Given the description of an element on the screen output the (x, y) to click on. 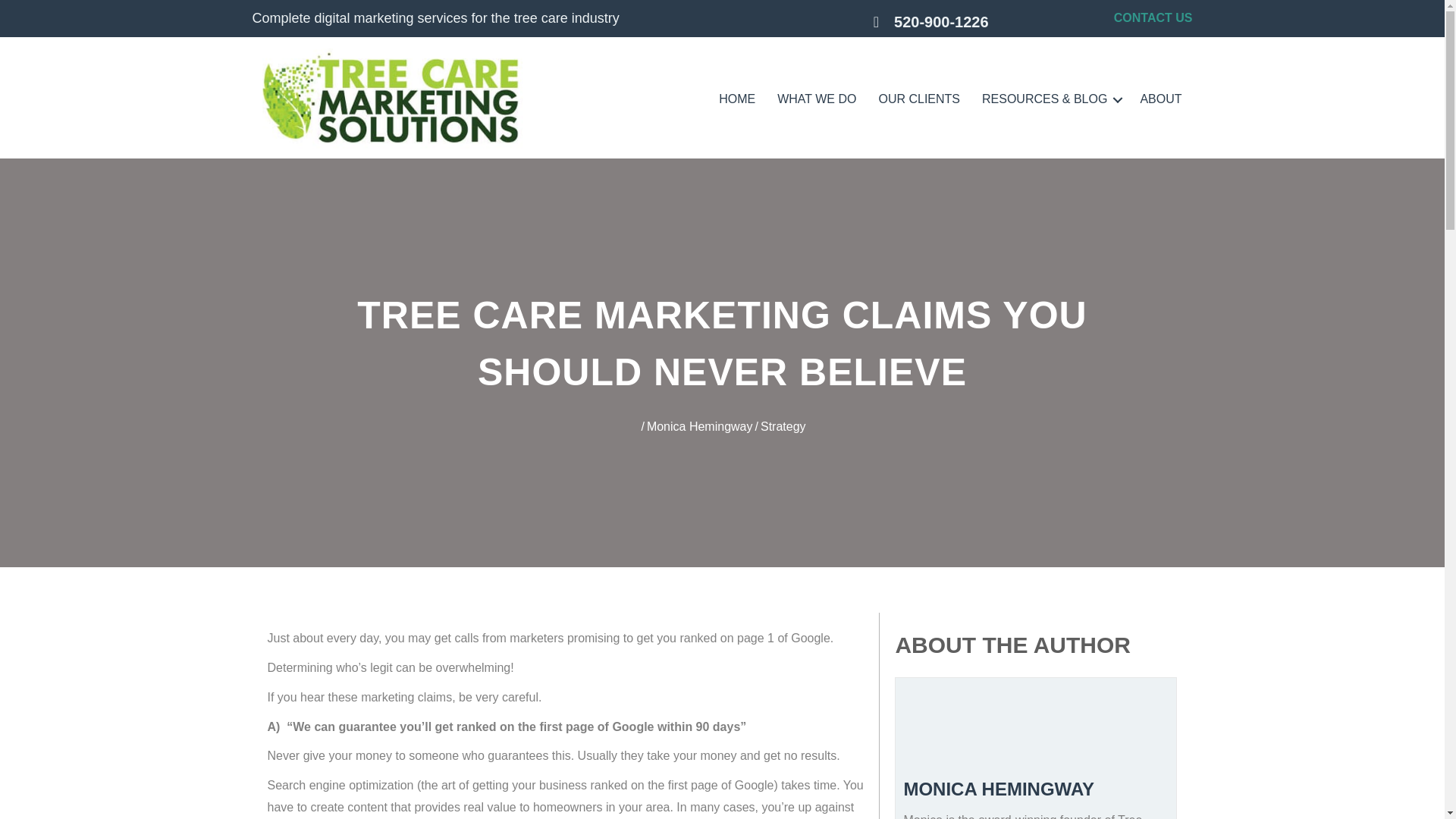
Strategy (783, 426)
ABOUT (1160, 99)
WHAT WE DO (816, 99)
MONICA HEMINGWAY (998, 788)
OUR CLIENTS (919, 99)
Tree-Care-Logo-vMAH-450X164 (392, 99)
Monica Hemingway (699, 426)
520-900-1226 (955, 21)
CONTACT US (1152, 17)
HOME (736, 99)
